Given the description of an element on the screen output the (x, y) to click on. 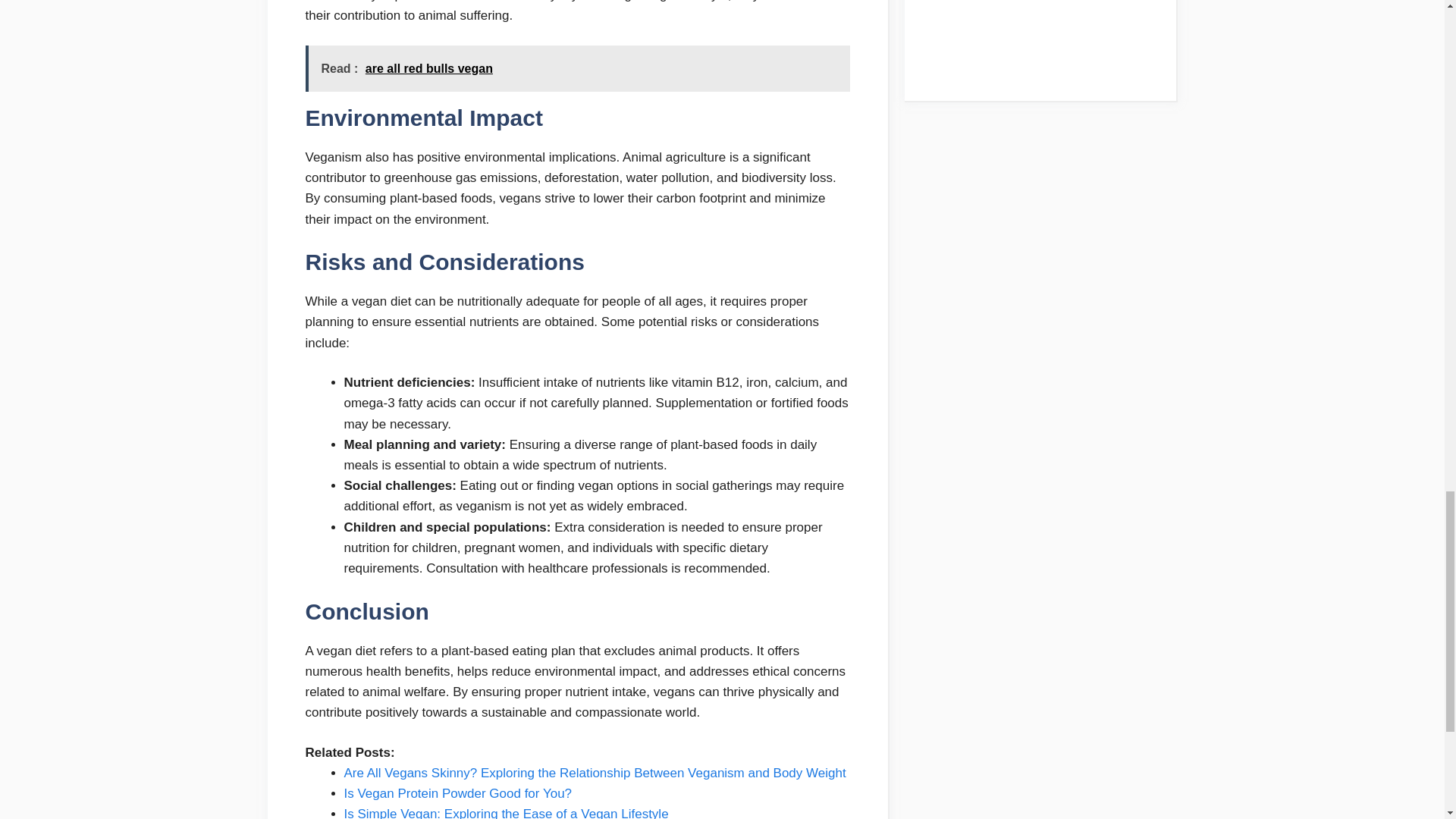
Read :  are all red bulls vegan (576, 68)
Is Vegan Protein Powder Good for You? (457, 793)
Is Simple Vegan: Exploring the Ease of a Vegan Lifestyle (505, 812)
